Given the description of an element on the screen output the (x, y) to click on. 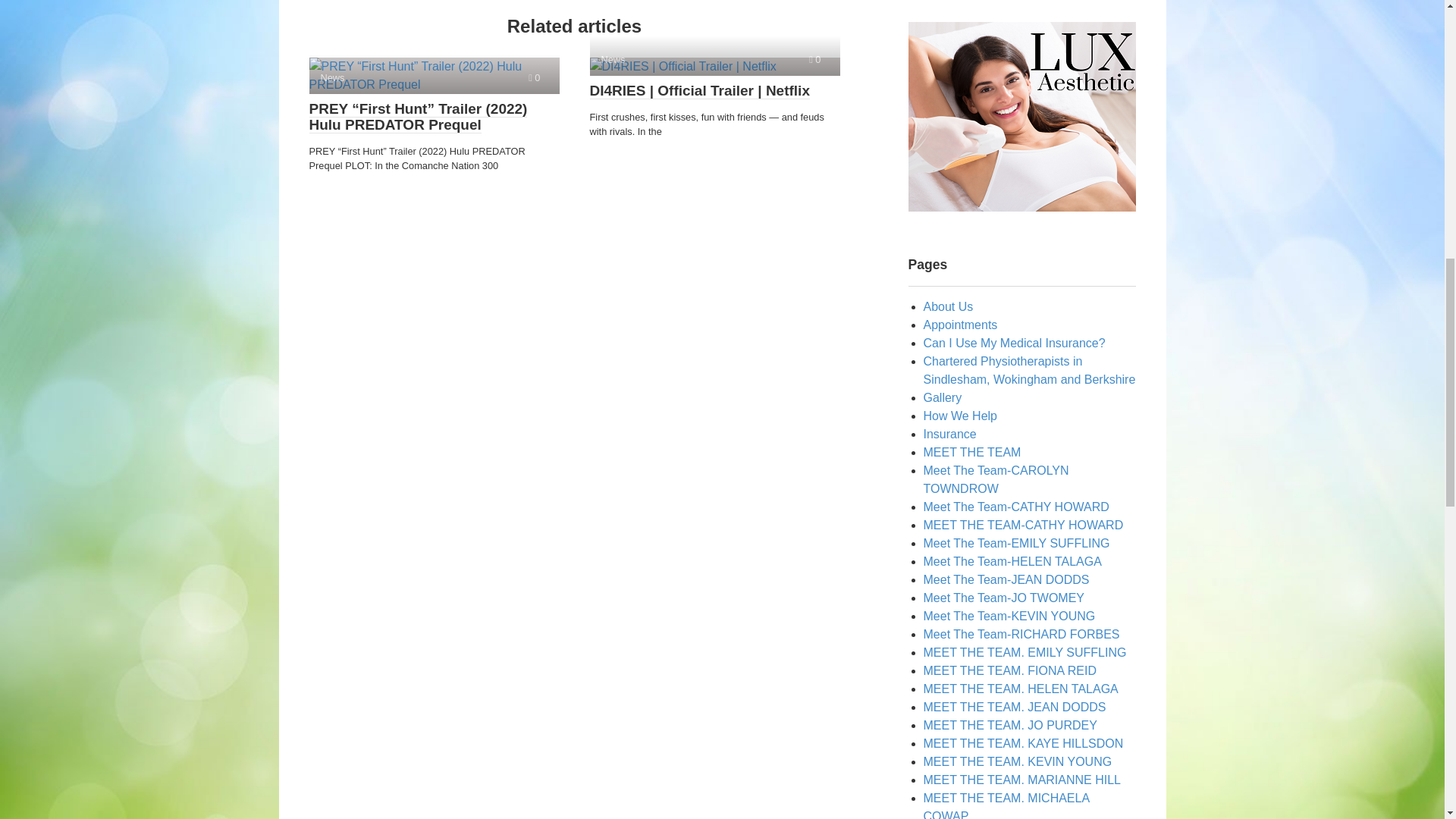
Comments (534, 77)
MEDSPA in Miami (1021, 116)
Comments (815, 59)
